Given the description of an element on the screen output the (x, y) to click on. 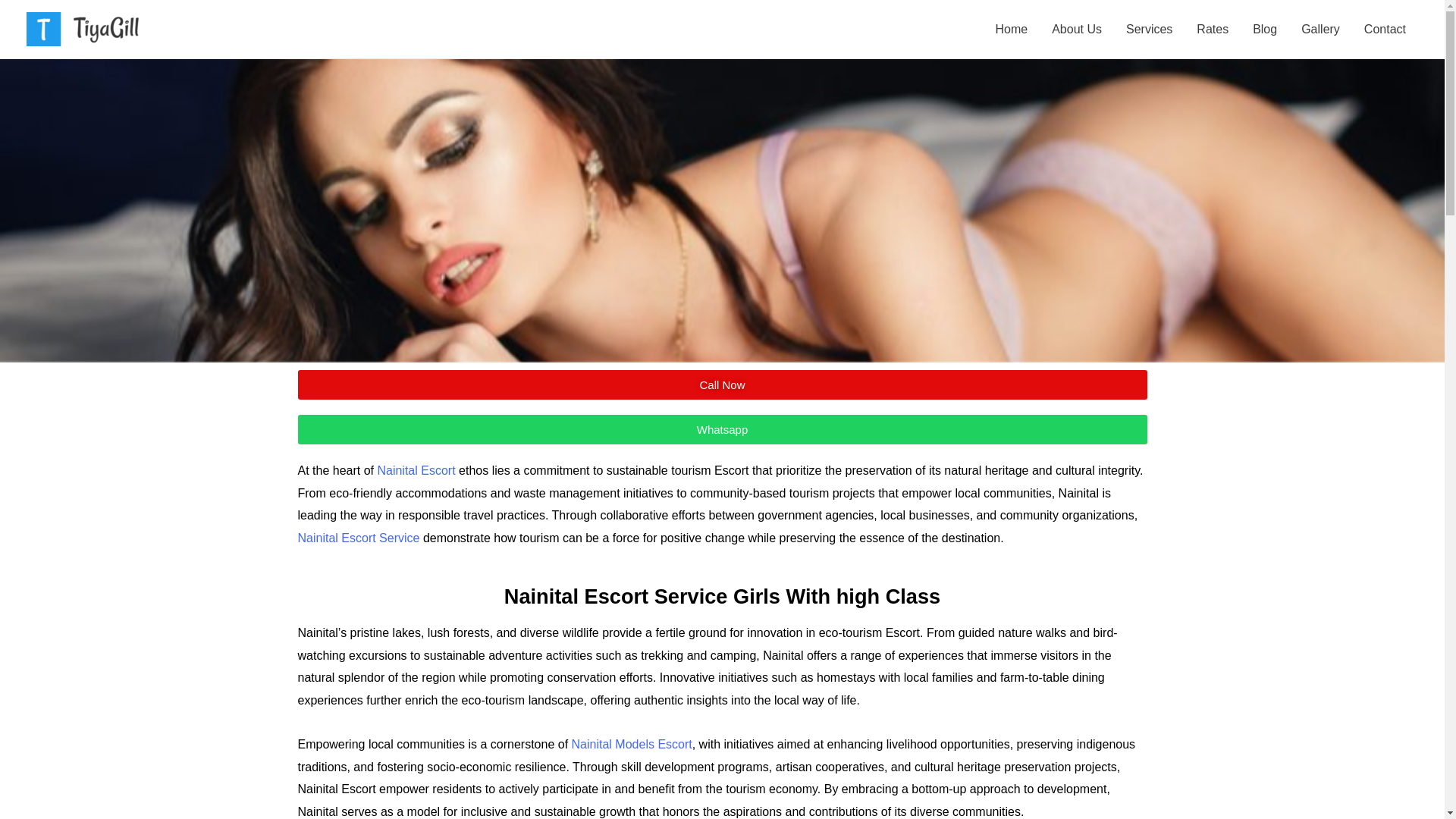
Nainital Models Escort (632, 744)
Whatsapp (722, 429)
About Us (1076, 29)
Call Now (722, 384)
Nainital Escort Service (358, 537)
Rates (1212, 29)
Home (1010, 29)
Contact (1385, 29)
Services (1149, 29)
Nainital Escort (415, 470)
